Given the description of an element on the screen output the (x, y) to click on. 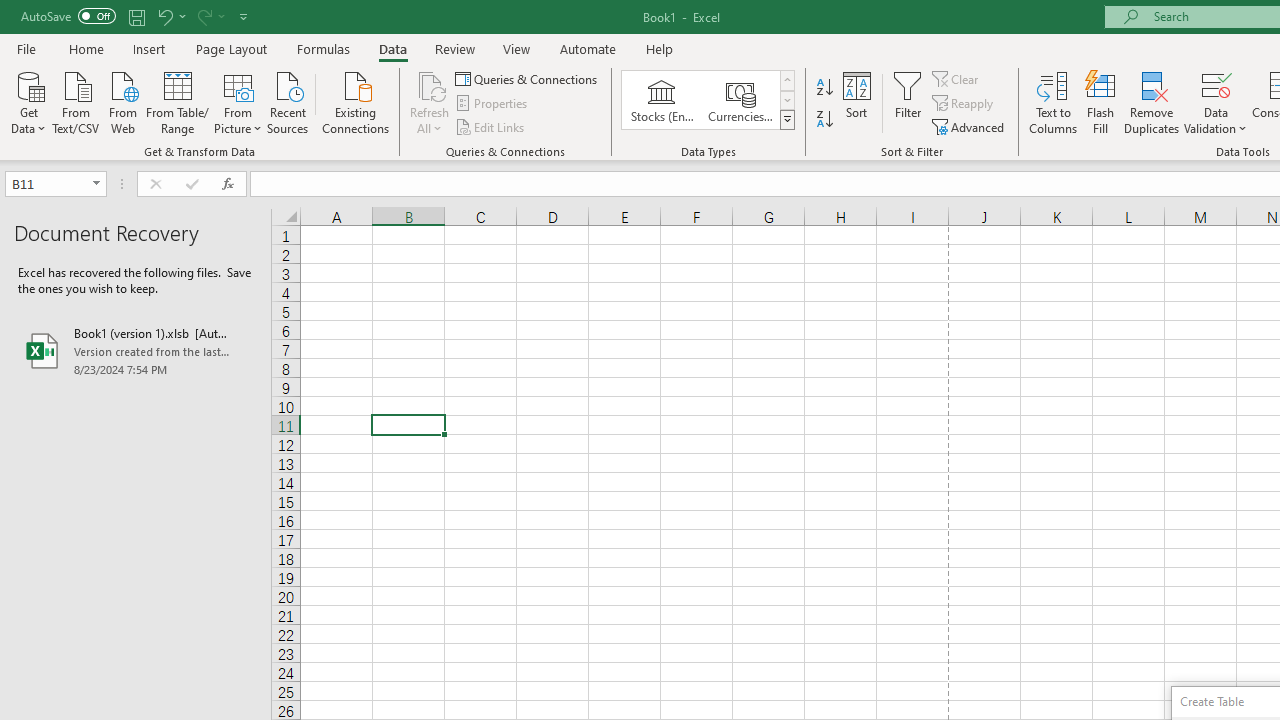
Data Validation... (1215, 84)
Open (96, 183)
Existing Connections (355, 101)
Home (86, 48)
Sort... (856, 102)
Data (392, 48)
